Given the description of an element on the screen output the (x, y) to click on. 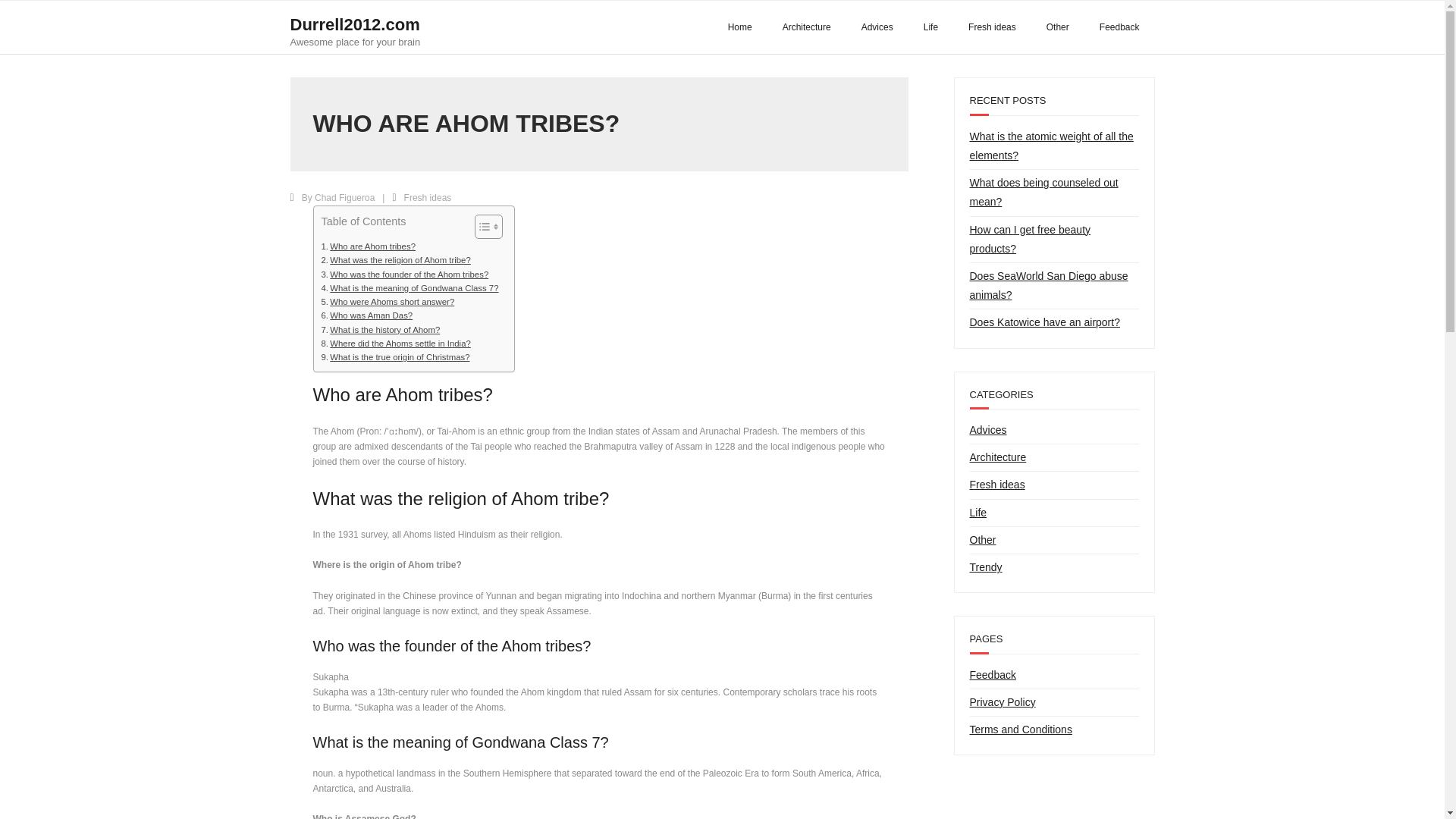
Who was Aman Das? (367, 315)
Fresh ideas (427, 197)
Feedback (1119, 27)
Who were Ahoms short answer? (387, 301)
What is the true origin of Christmas? (395, 356)
Who are Ahom tribes? (367, 246)
Who was the founder of the Ahom tribes? (405, 274)
What was the religion of Ahom tribe? (395, 259)
What is the history of Ahom? (381, 329)
Who are Ahom tribes? (367, 246)
Who was the founder of the Ahom tribes? (405, 274)
Advices (876, 27)
What is the meaning of Gondwana Class 7? (410, 287)
Architecture (806, 27)
Who was Aman Das? (367, 315)
